Given the description of an element on the screen output the (x, y) to click on. 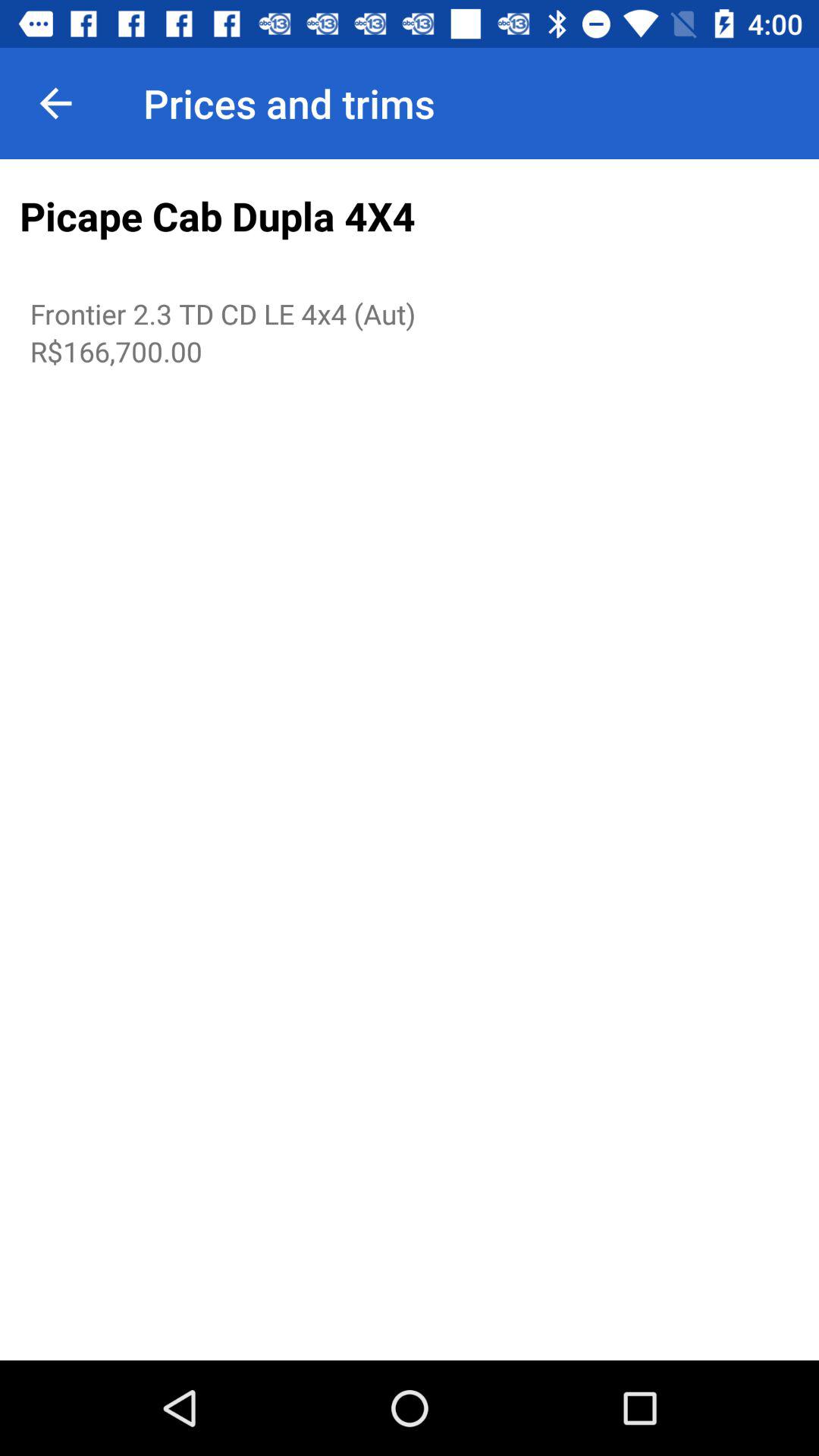
open icon above frontier 2 3 icon (409, 217)
